Given the description of an element on the screen output the (x, y) to click on. 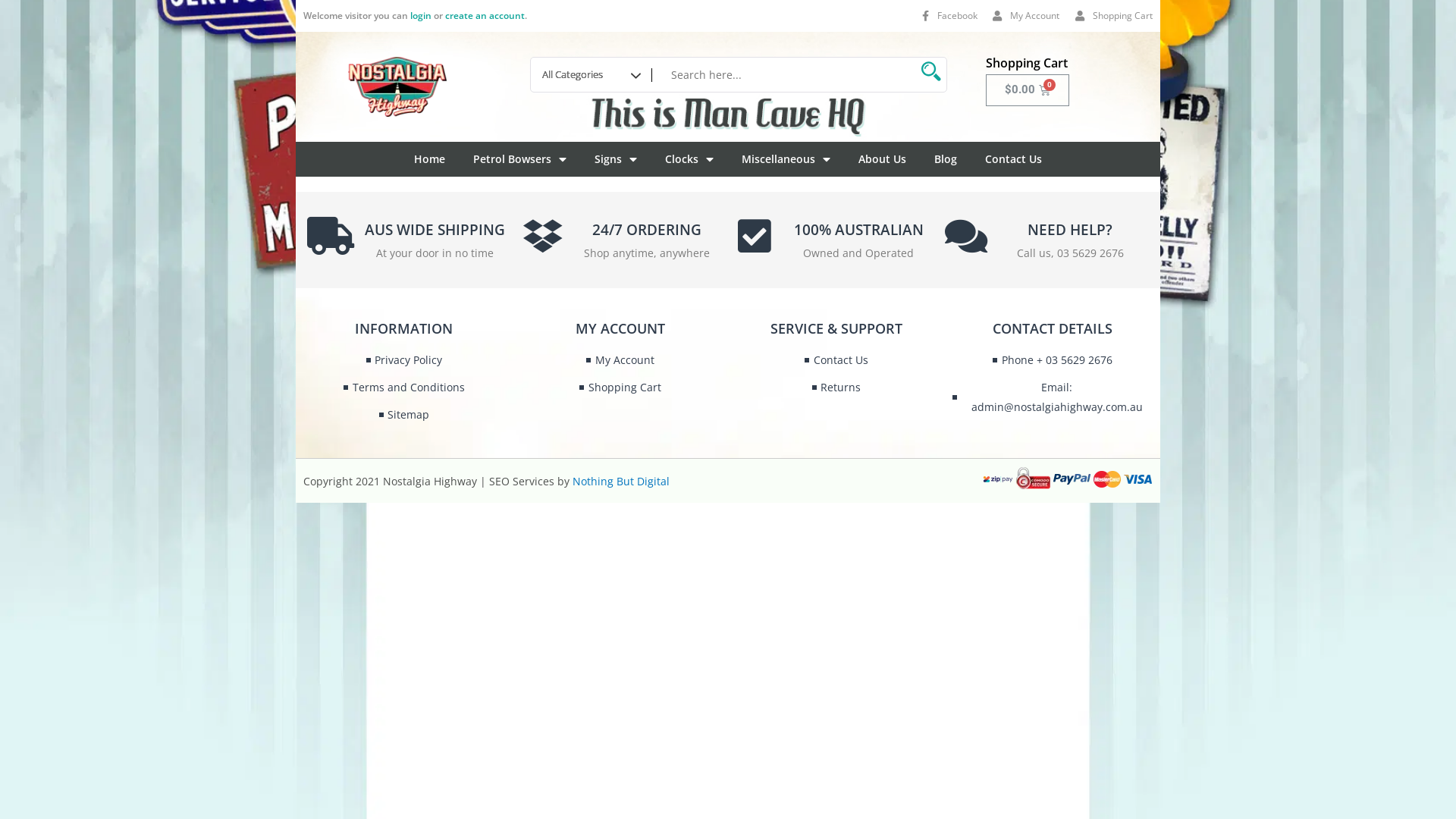
Email: admin@nostalgiahighway.com.au Element type: text (1051, 397)
Signs Element type: text (615, 158)
Terms and Conditions Element type: text (403, 387)
Home Element type: text (429, 158)
Contact Us Element type: text (835, 360)
NEED HELP? Element type: text (1069, 229)
Shopping Cart Element type: text (1111, 15)
$0.00 Element type: text (1027, 90)
My Account Element type: text (1024, 15)
Petrol Bowsers Element type: text (519, 158)
create an account Element type: text (484, 15)
Shopping Cart Element type: text (619, 387)
Privacy Policy Element type: text (403, 360)
Returns Element type: text (836, 387)
My Account Element type: text (619, 360)
Blog Element type: text (945, 158)
login Element type: text (420, 15)
Clocks Element type: text (689, 158)
Phone + 03 5629 2676 Element type: text (1051, 360)
Miscellaneous Element type: text (785, 158)
About Us Element type: text (882, 158)
Nothing But Digital Element type: text (620, 480)
Contact Us Element type: text (1013, 158)
Sitemap Element type: text (403, 414)
